Given the description of an element on the screen output the (x, y) to click on. 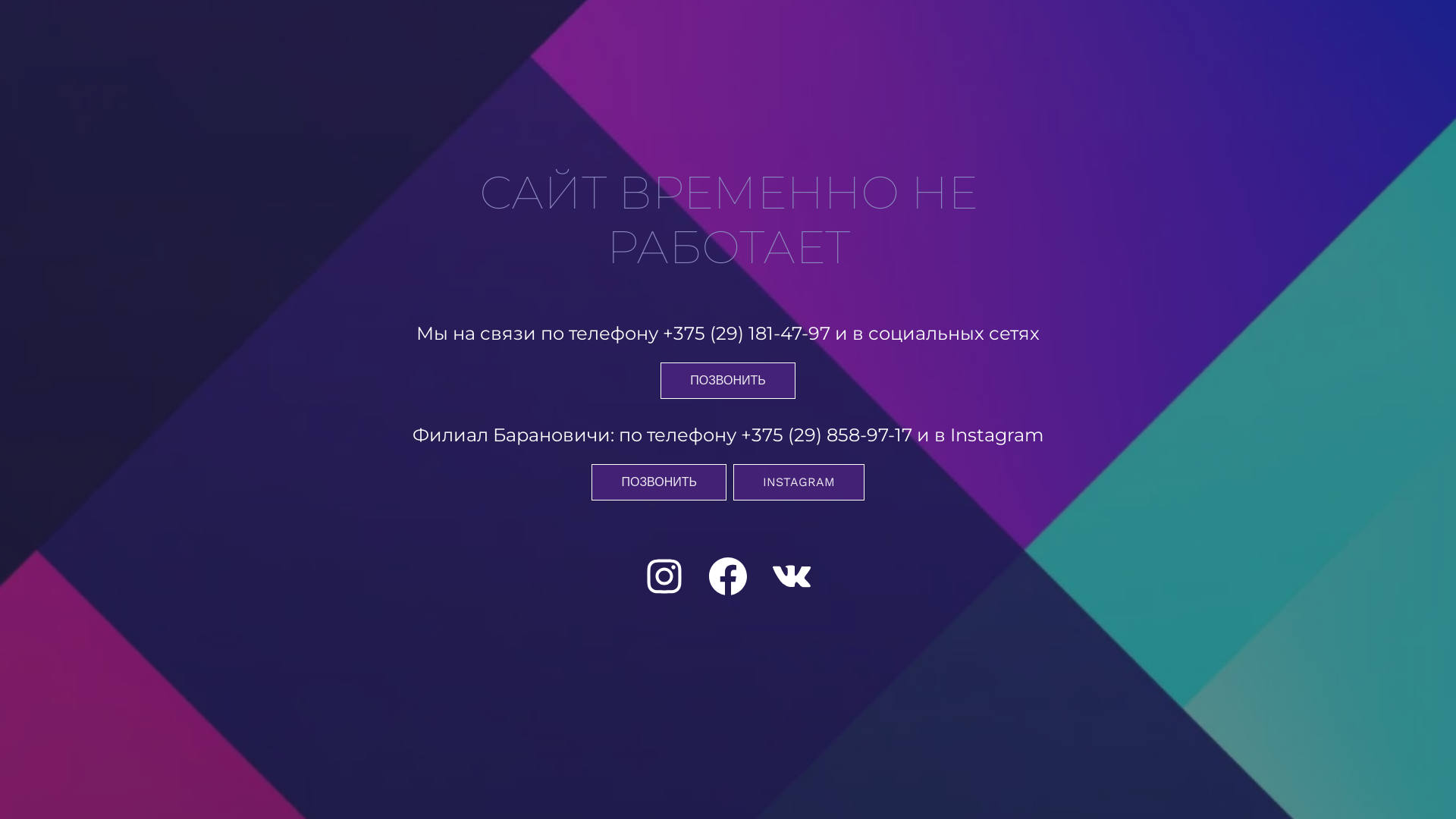
INSTAGRAM Element type: text (798, 482)
